Given the description of an element on the screen output the (x, y) to click on. 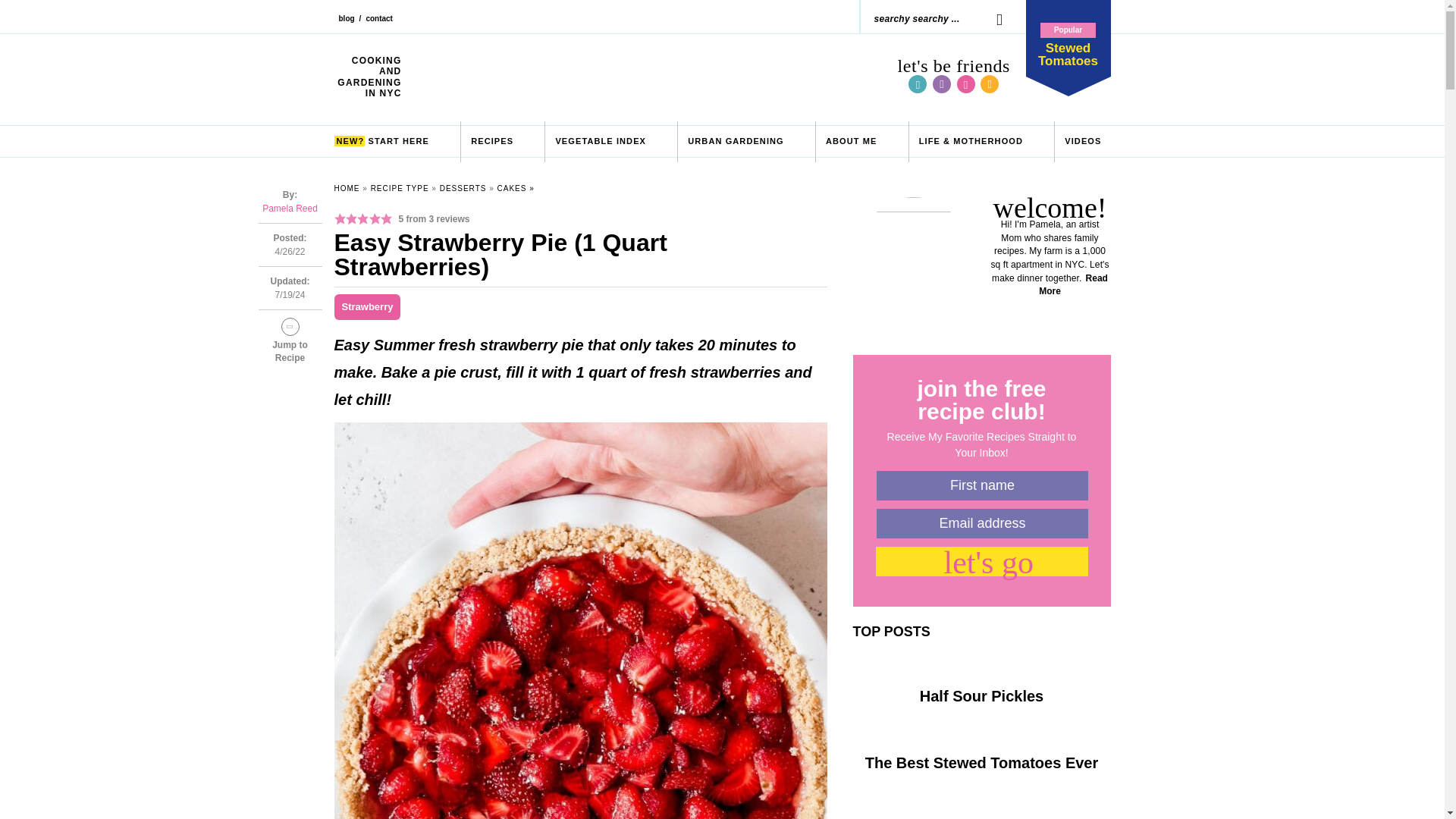
hey you. (850, 141)
NEW? START HERE (380, 141)
Search (992, 17)
Search (992, 17)
RECIPES (491, 141)
Brooklyn Farm Girl (649, 77)
Search (1067, 38)
contact (992, 17)
Skip to primary navigation (379, 23)
